Given the description of an element on the screen output the (x, y) to click on. 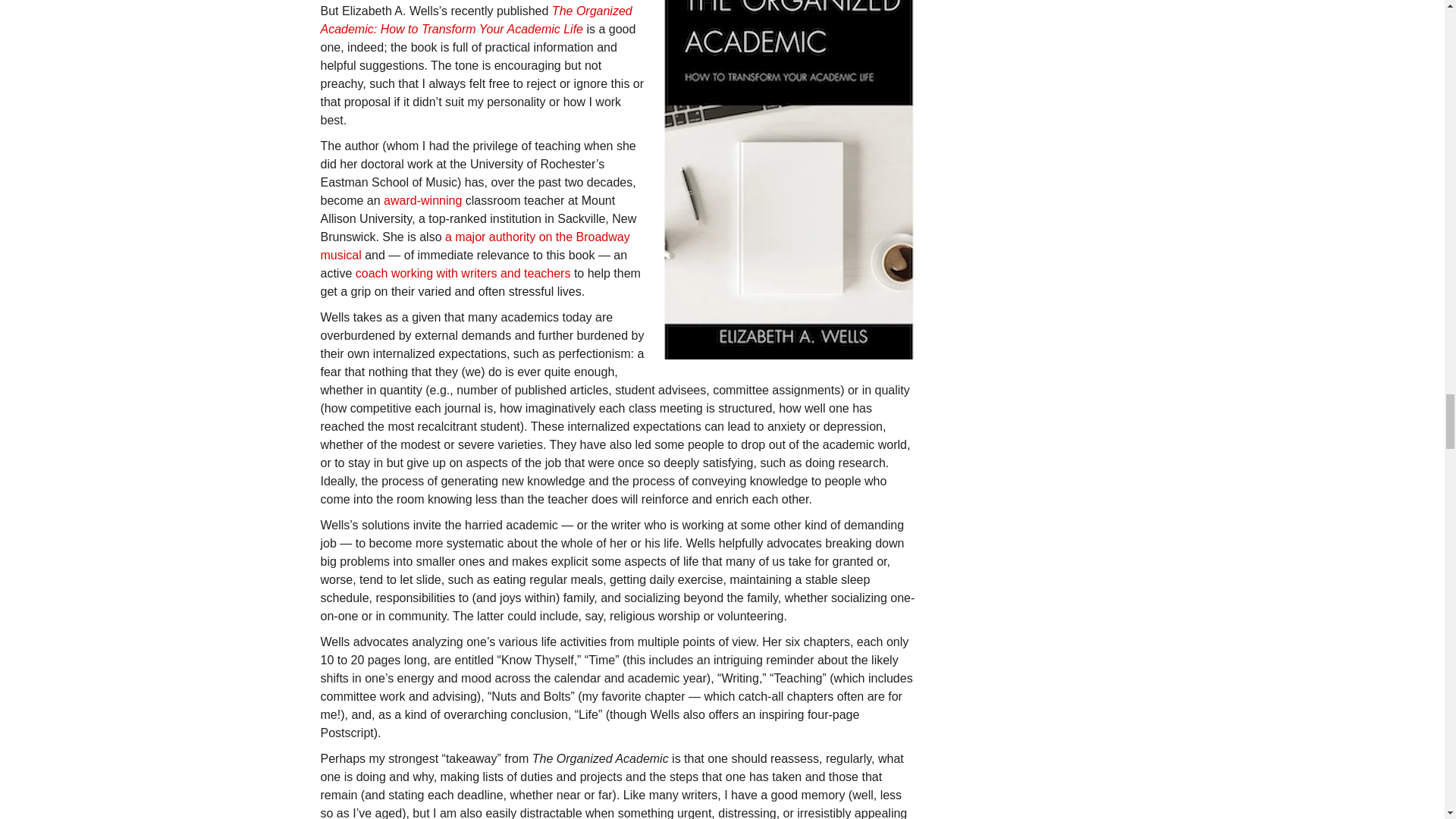
The Organized Academic: How to Transform Your Academic Life (475, 20)
